Given the description of an element on the screen output the (x, y) to click on. 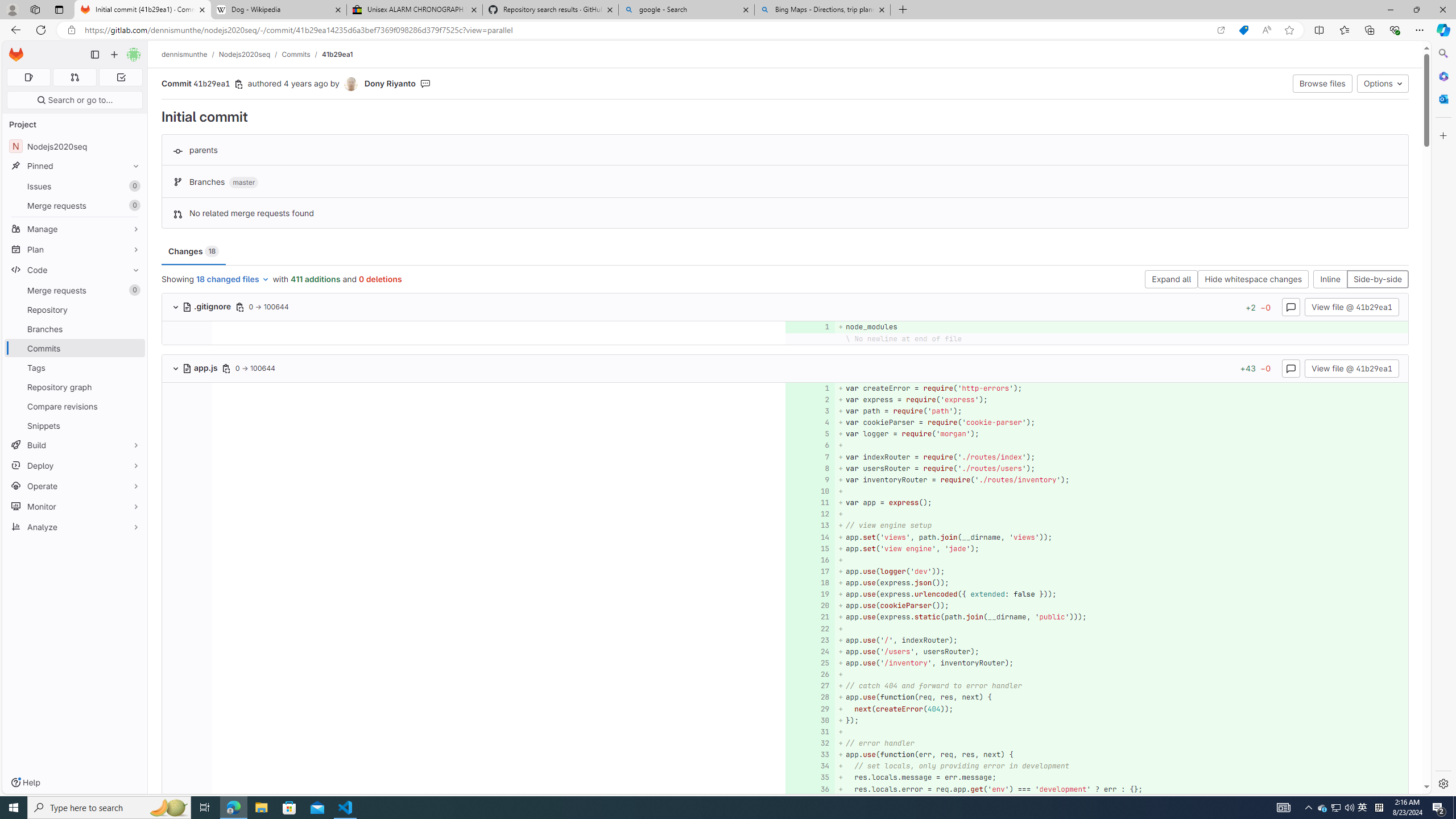
Merge requests 0 (74, 76)
22 (808, 628)
Pin Snippets (132, 425)
Hide whitespace changes (1253, 279)
+ // set locals, only providing error in development  (1120, 766)
+ var path = require('path');  (1120, 410)
Add a comment to this line 2 (809, 399)
Help (25, 782)
Copy file path (225, 368)
Merge requests0 (74, 289)
dennismunthe (184, 53)
Dony Riyanto's avatar (350, 83)
Monitor (74, 506)
Add a comment to this line 4 (809, 422)
